Given the description of an element on the screen output the (x, y) to click on. 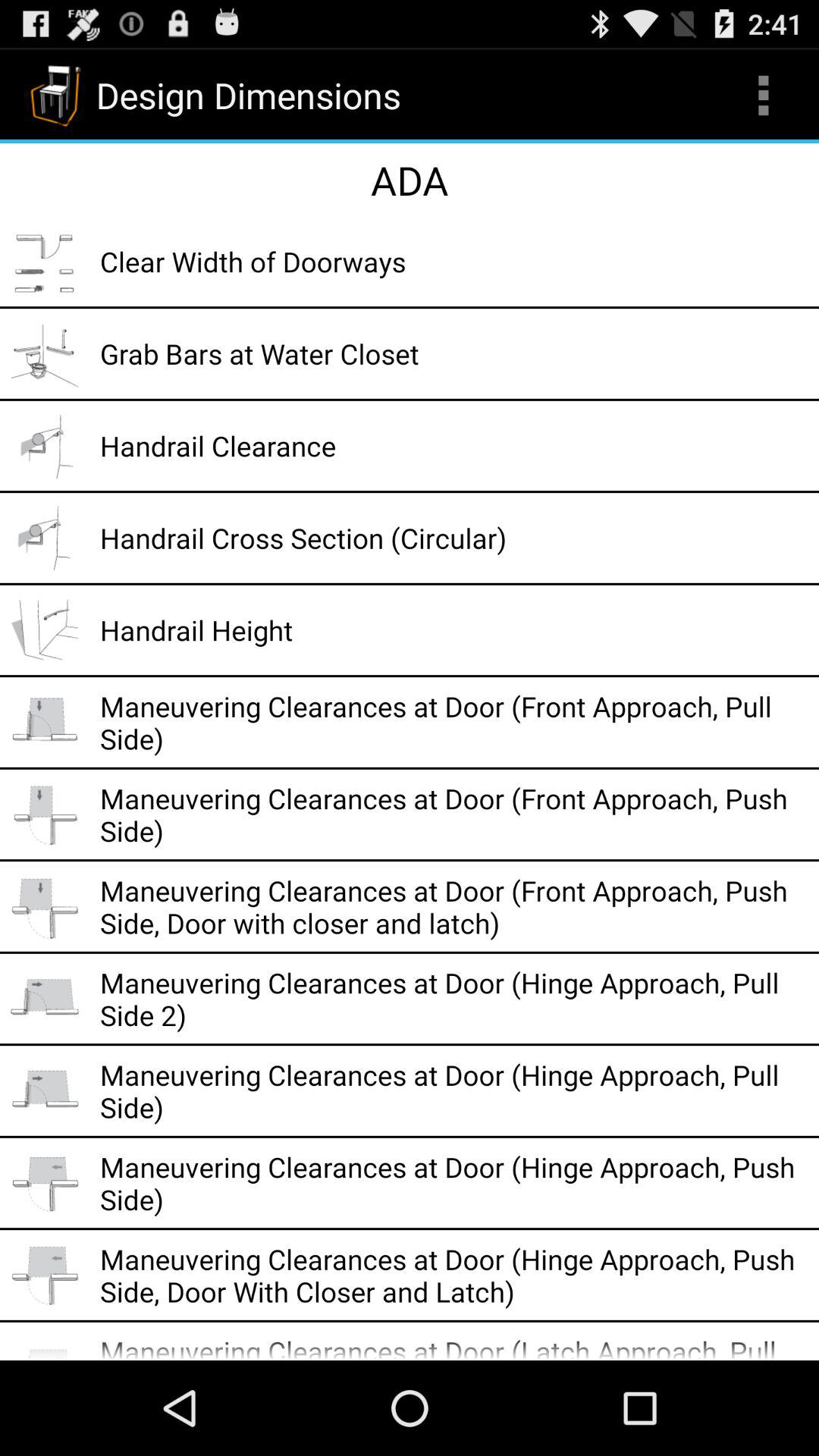
turn on clear width of (454, 261)
